Given the description of an element on the screen output the (x, y) to click on. 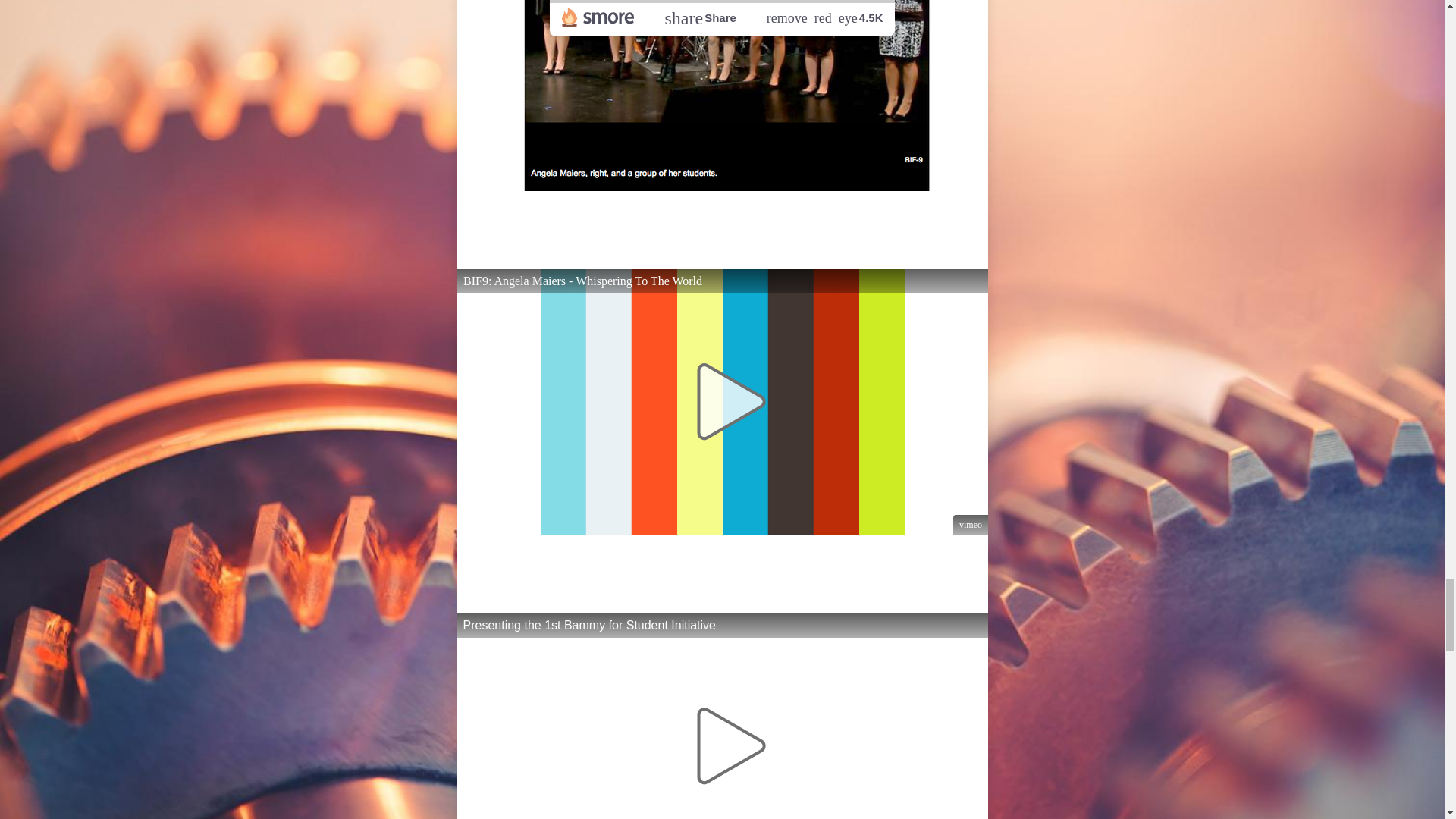
BIF-9 (813, 241)
and (657, 561)
Angela (582, 218)
and (715, 218)
at (779, 241)
Maiers (599, 561)
Present (862, 218)
Students (781, 218)
Mark (708, 561)
Maiers (657, 218)
Angela (525, 561)
Choose2Matter (688, 241)
Moran (770, 561)
